Given the description of an element on the screen output the (x, y) to click on. 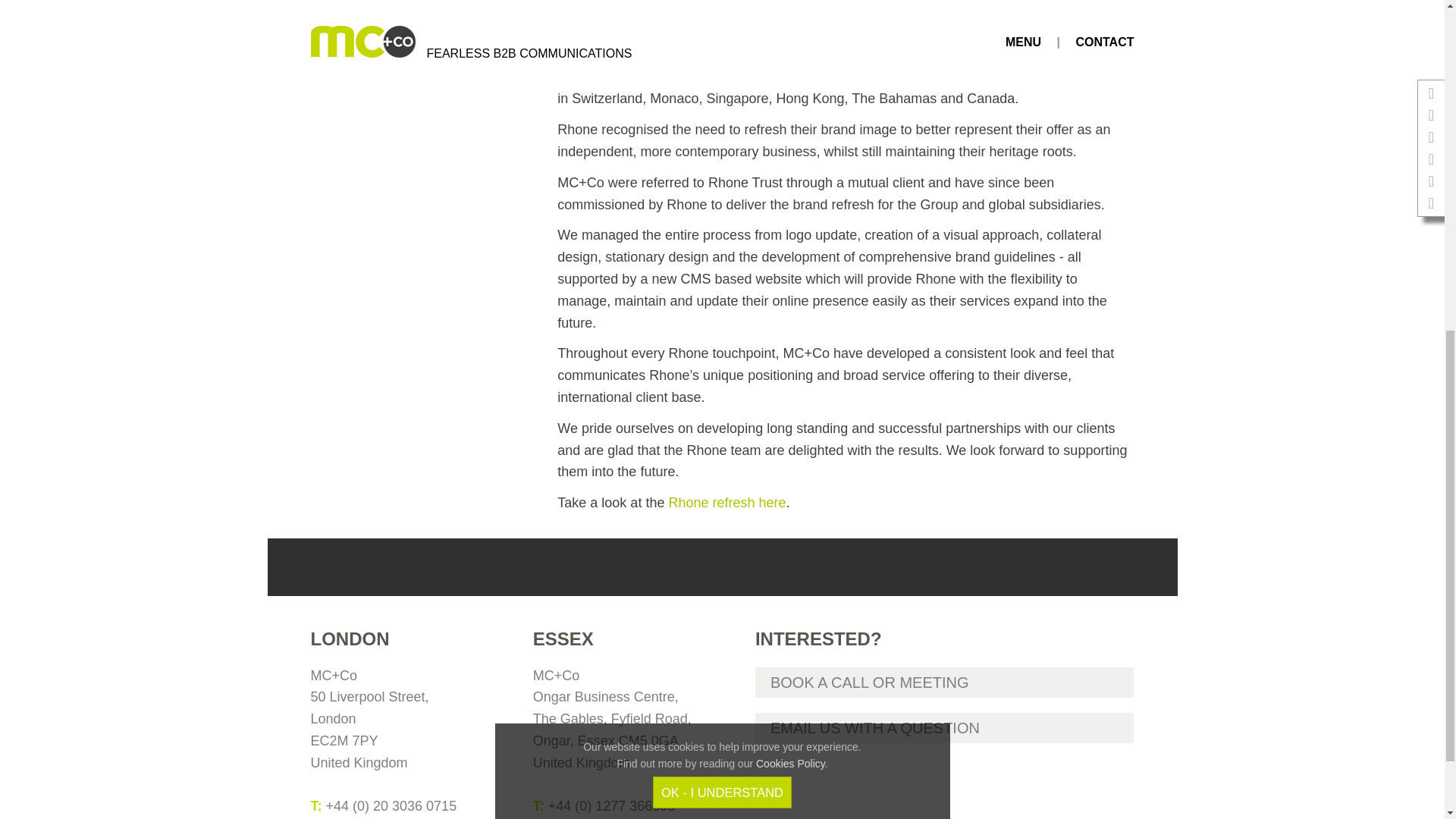
Rhone refresh here (727, 502)
EMAIL US WITH A QUESTION (944, 727)
BOOK A CALL OR MEETING (944, 682)
OK - I Understand (722, 184)
